Given the description of an element on the screen output the (x, y) to click on. 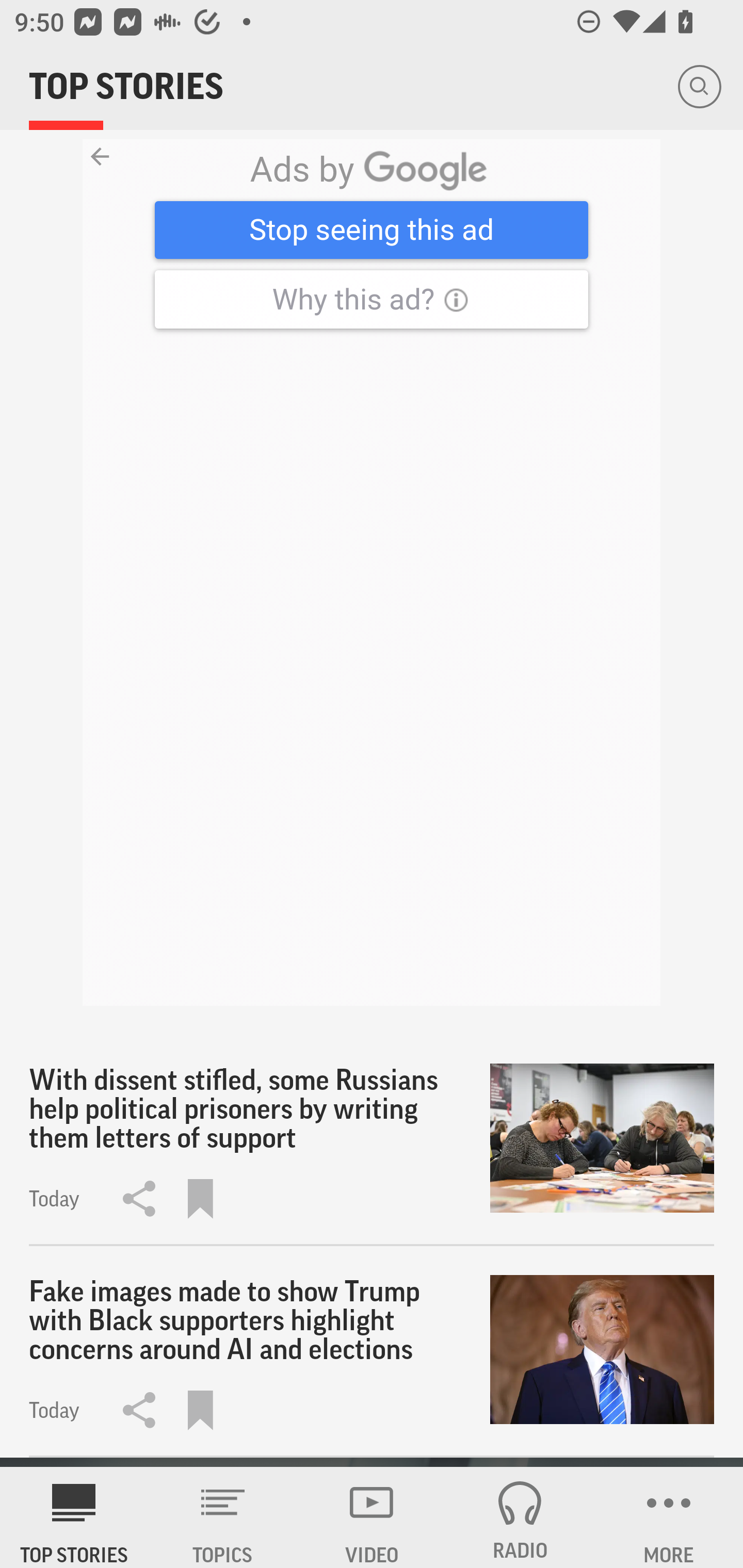
about (371, 572)
AP News TOP STORIES (74, 1517)
TOPICS (222, 1517)
VIDEO (371, 1517)
RADIO (519, 1517)
MORE (668, 1517)
